Given the description of an element on the screen output the (x, y) to click on. 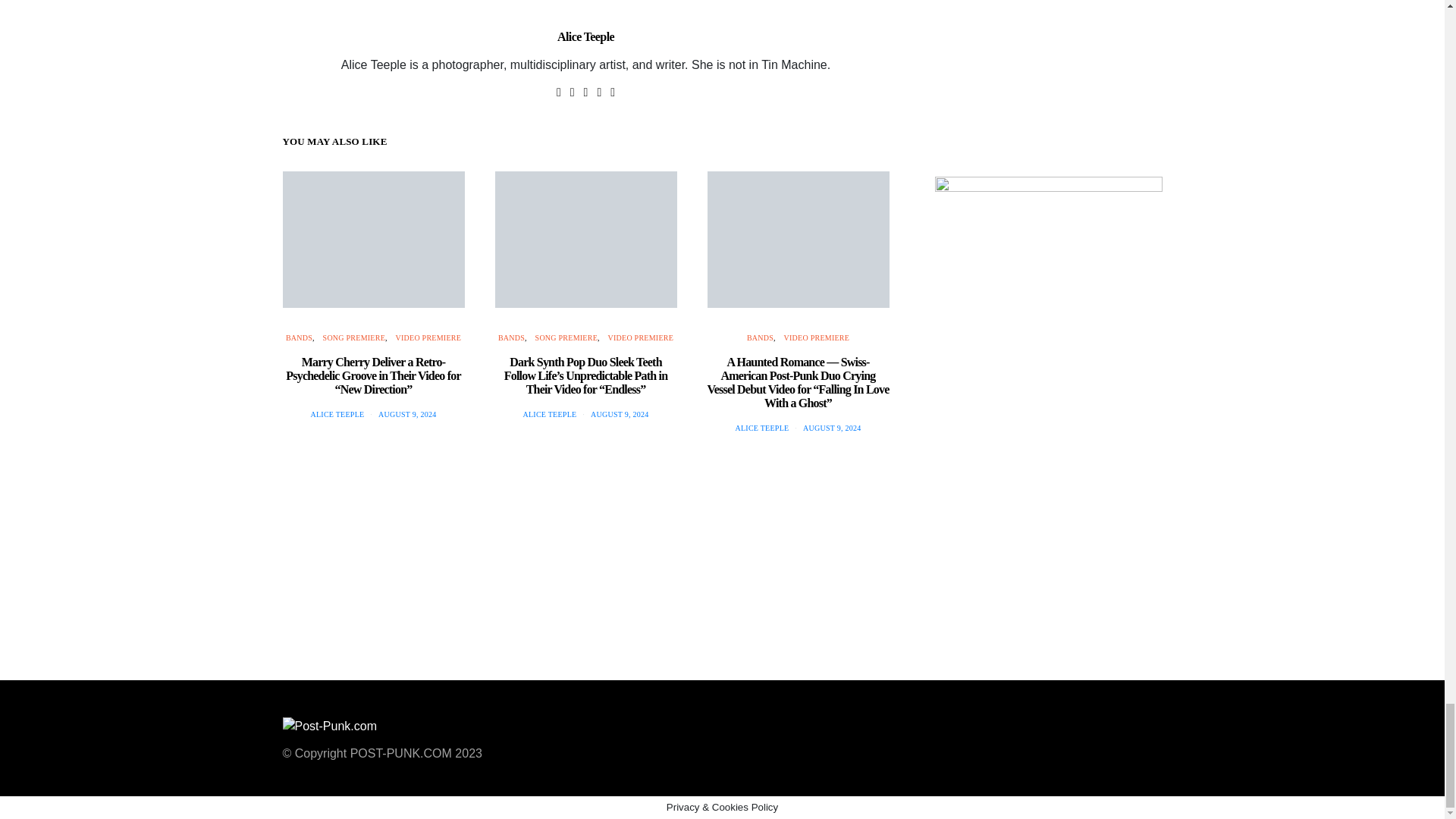
View all posts by Alice Teeple (549, 414)
View all posts by Alice Teeple (762, 428)
View all posts by Alice Teeple (337, 414)
